Given the description of an element on the screen output the (x, y) to click on. 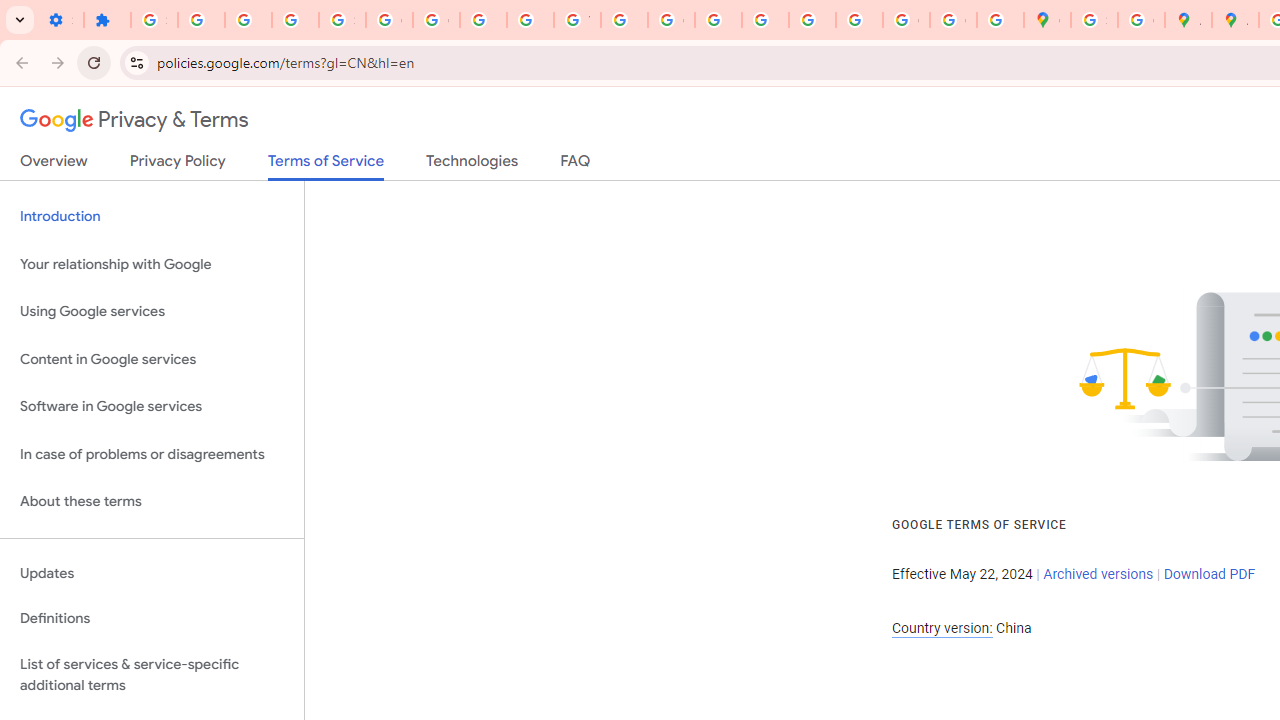
Sign in - Google Accounts (342, 20)
Software in Google services (152, 407)
Sign in - Google Accounts (1094, 20)
Google Account Help (389, 20)
Google Maps (1047, 20)
Content in Google services (152, 358)
